Given the description of an element on the screen output the (x, y) to click on. 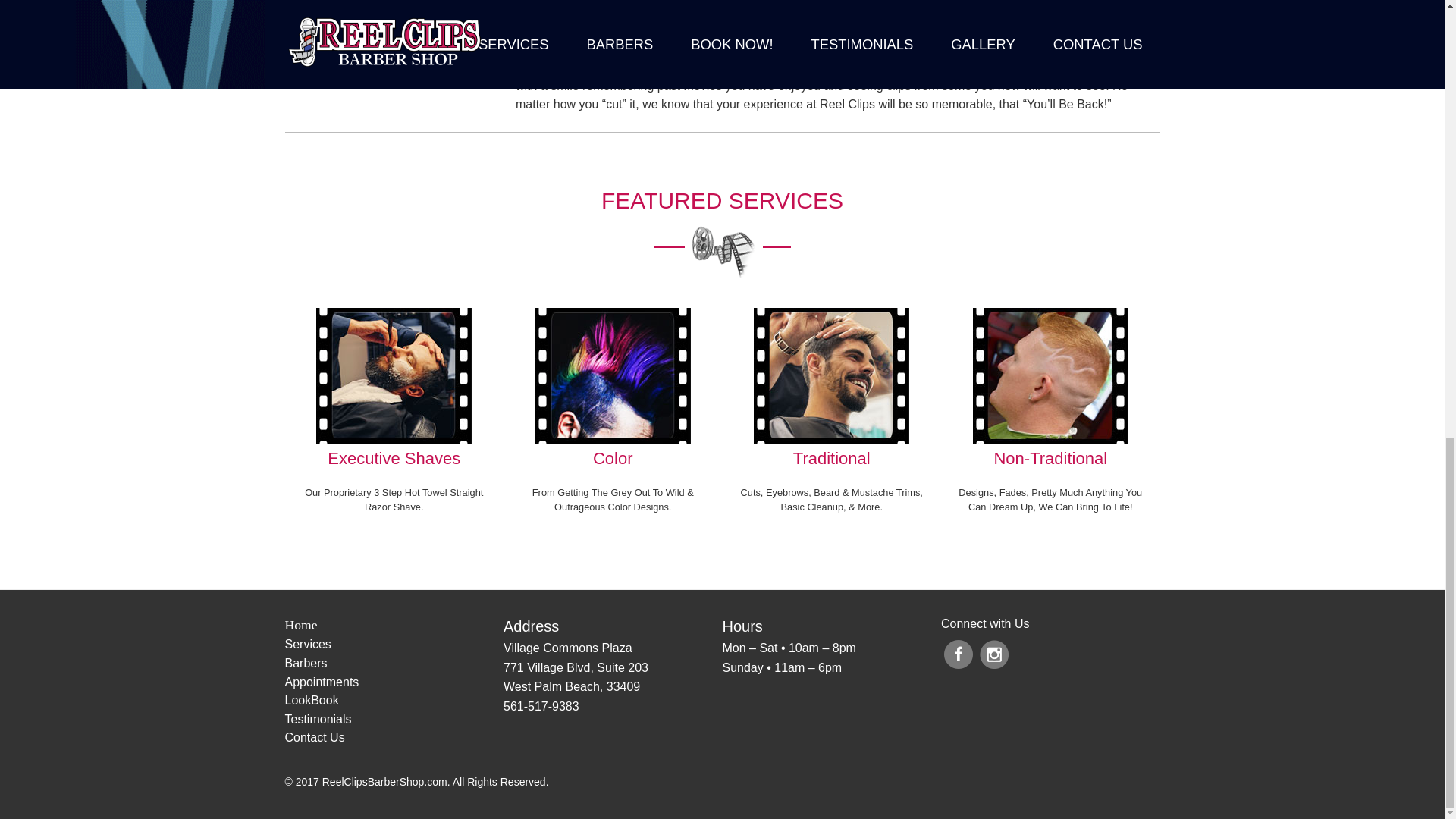
Barbers (394, 663)
Services (394, 644)
561-517-9383 (541, 706)
Contact Us (394, 737)
Testimonials (394, 719)
Home (394, 624)
Appointments (394, 682)
LookBook (394, 700)
